Given the description of an element on the screen output the (x, y) to click on. 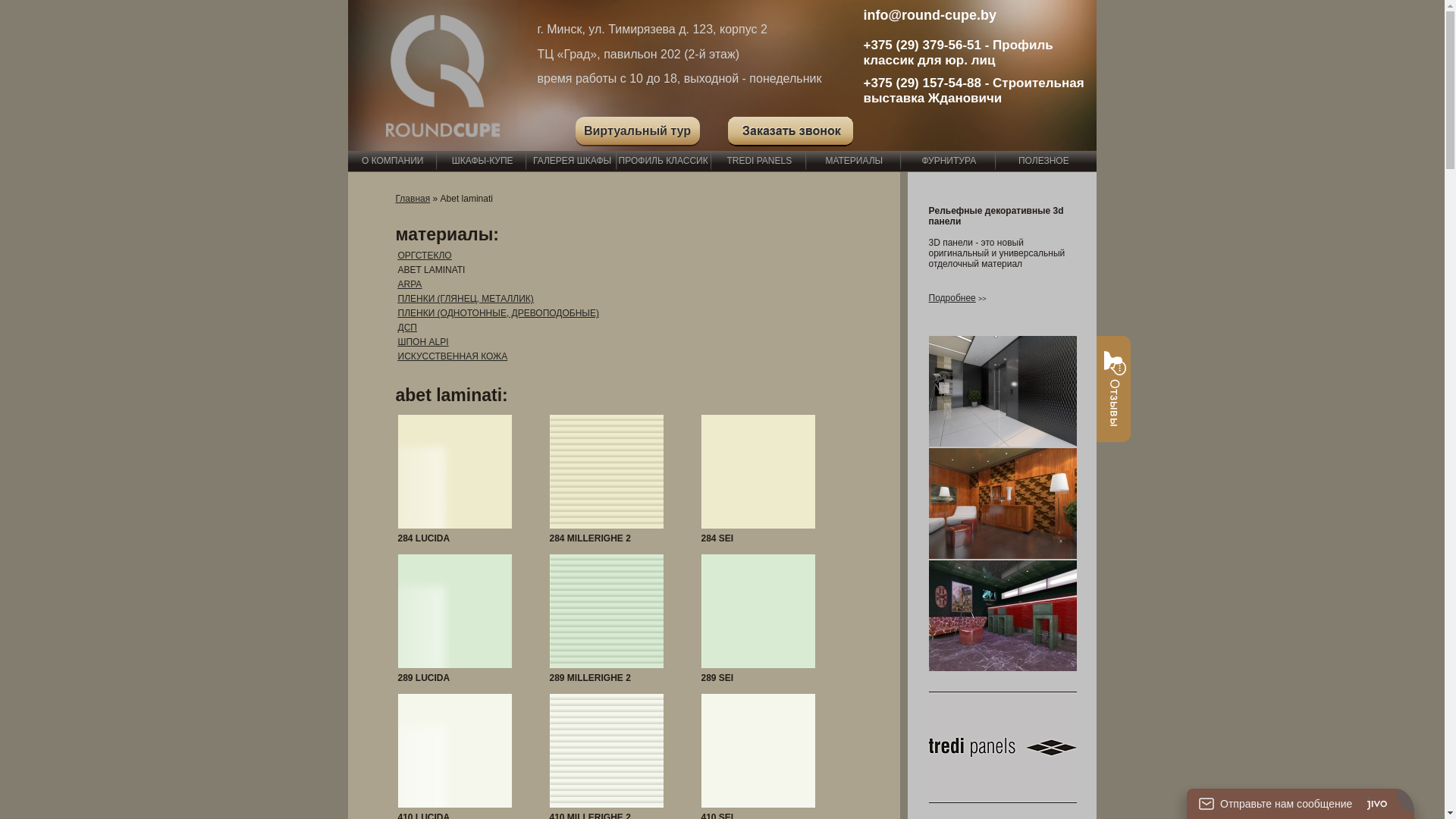
ARPA Element type: text (409, 284)
TREDI PANELS Element type: text (759, 159)
>> Element type: text (982, 297)
info@round-cupe.by Element type: text (929, 14)
